Given the description of an element on the screen output the (x, y) to click on. 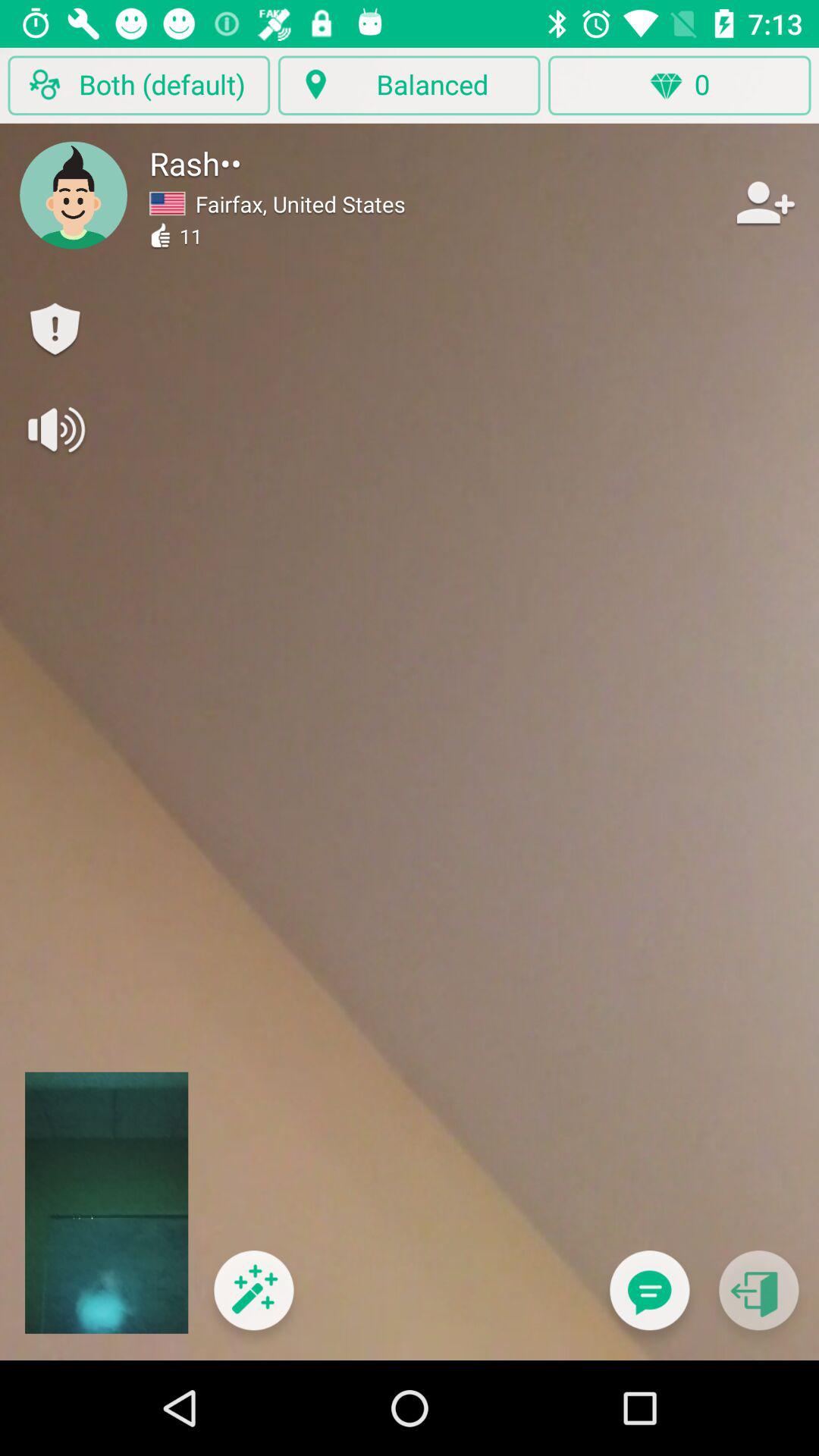
select item at the bottom left corner (253, 1300)
